Given the description of an element on the screen output the (x, y) to click on. 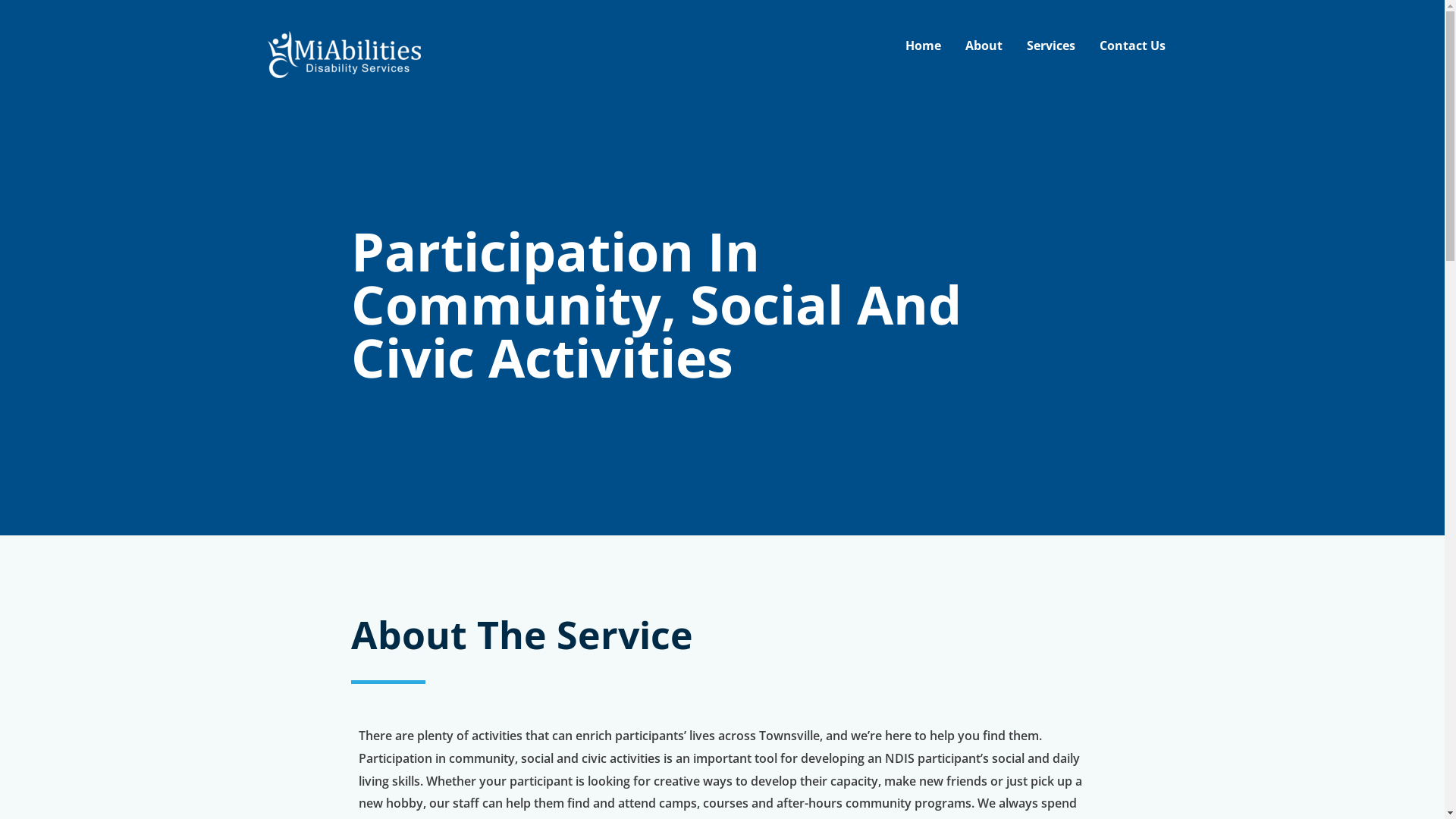
Home Element type: text (923, 45)
Services Element type: text (1050, 45)
Contact Us Element type: text (1132, 45)
About Element type: text (982, 45)
